Given the description of an element on the screen output the (x, y) to click on. 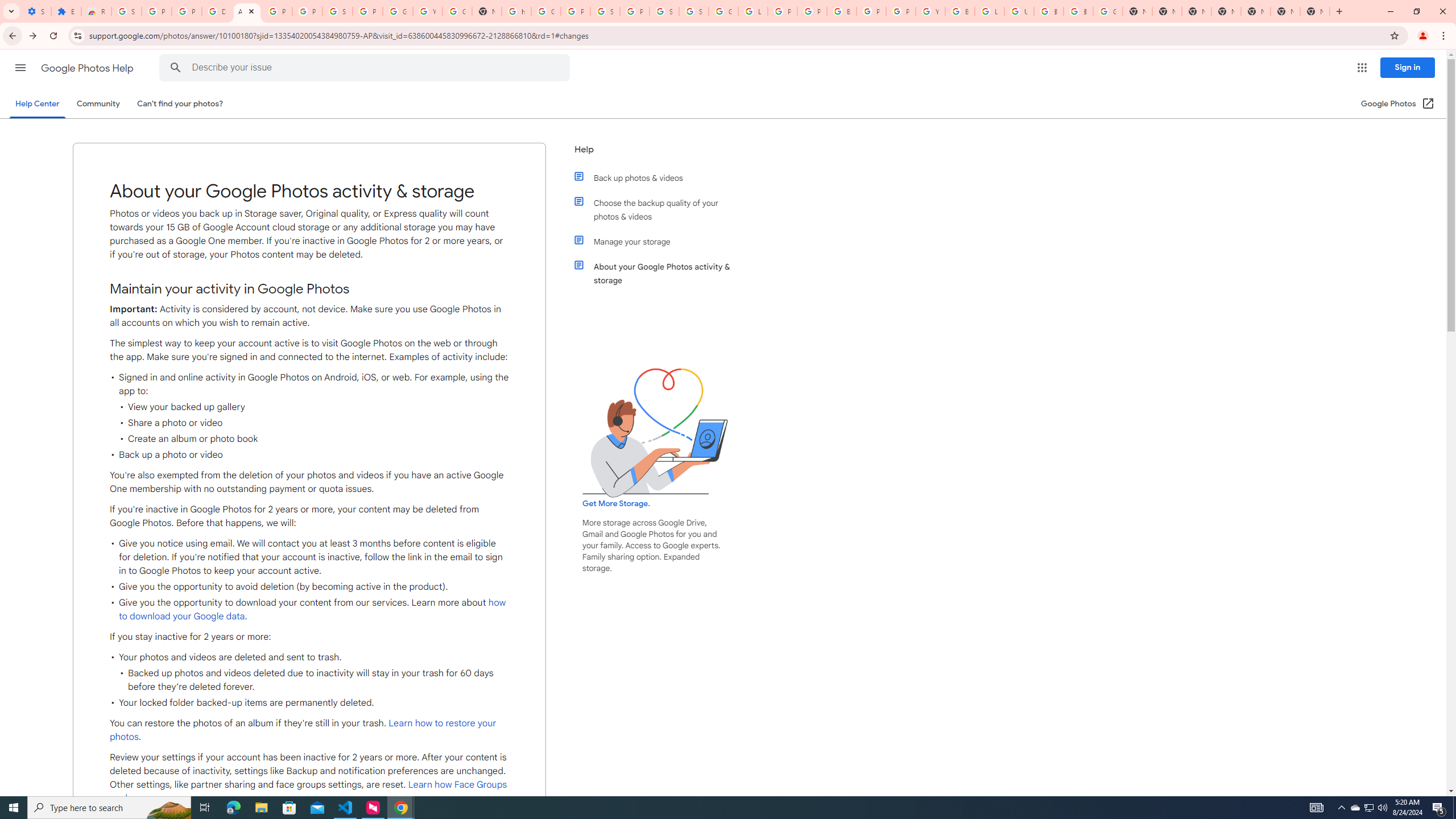
Community (97, 103)
Google Images (1107, 11)
Sign in - Google Accounts (337, 11)
Describe your issue (366, 67)
Get More Storage. (615, 503)
About your Google Photos activity & storage (661, 273)
Search Help Center (176, 67)
Google Photos Help (87, 68)
